Given the description of an element on the screen output the (x, y) to click on. 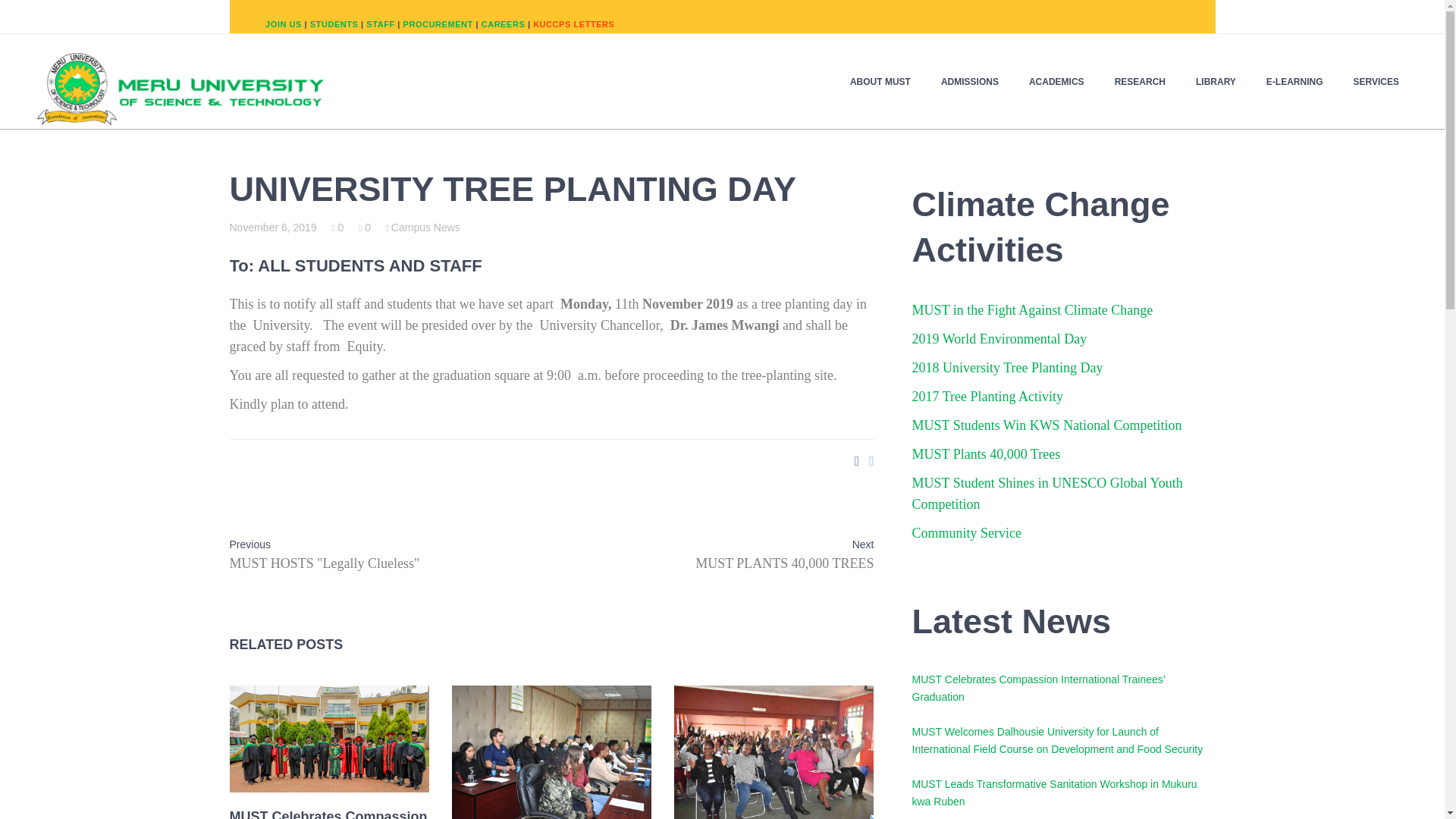
ADMISSIONS (977, 81)
ABOUT MUST (888, 81)
PROCUREMENT (438, 23)
Like this (337, 227)
CAREERS (503, 23)
STUDENTS (334, 23)
JOIN US (282, 23)
STAFF (380, 23)
